Given the description of an element on the screen output the (x, y) to click on. 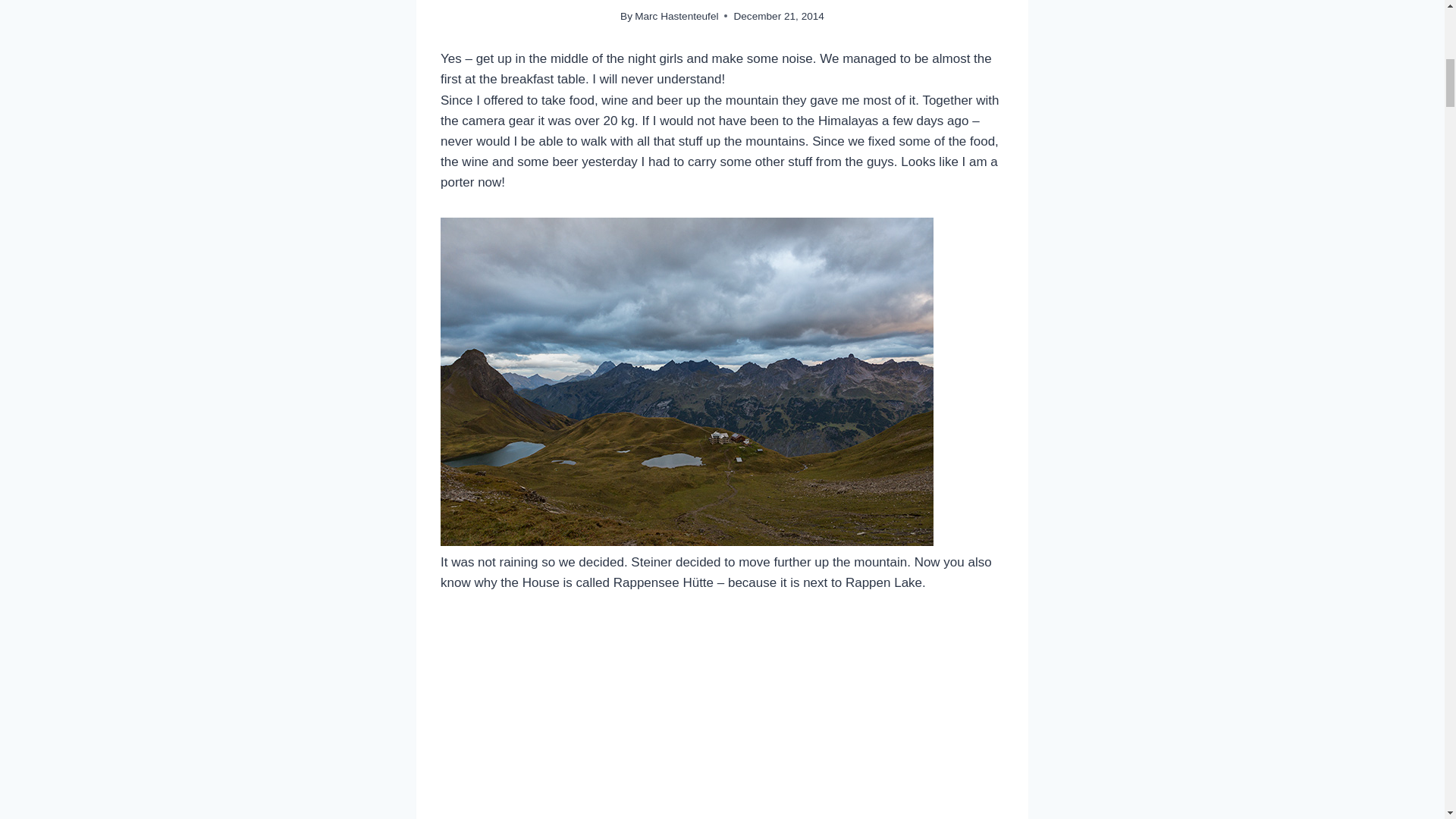
Marc Hastenteufel (675, 16)
